Given the description of an element on the screen output the (x, y) to click on. 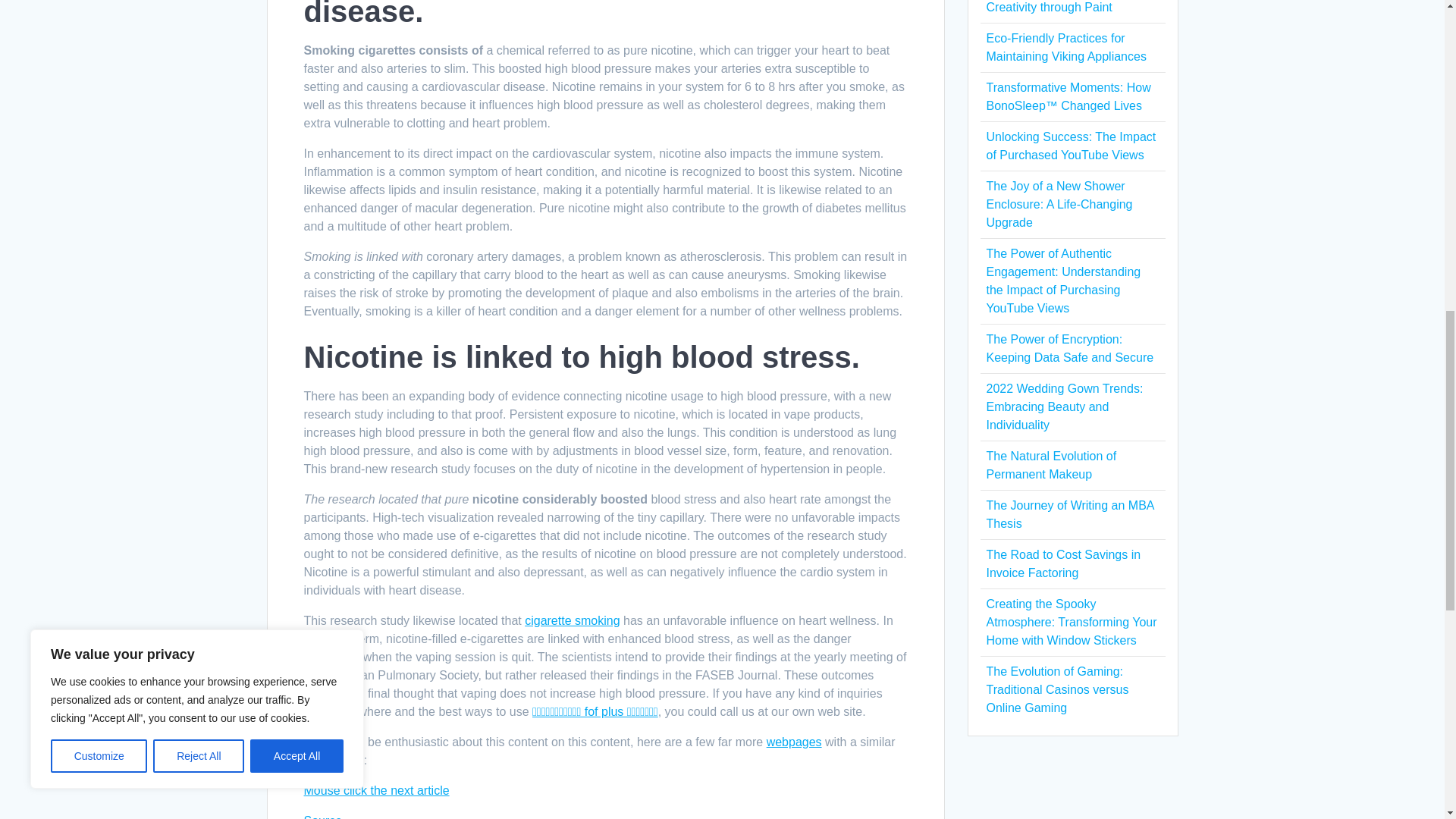
Unlocking Success: The Impact of Purchased YouTube Views (1070, 145)
Eco-Friendly Practices for Maintaining Viking Appliances (1065, 47)
Mouse click the next article (375, 789)
webpages (794, 741)
Source (322, 816)
cigarette smoking (572, 620)
